Given the description of an element on the screen output the (x, y) to click on. 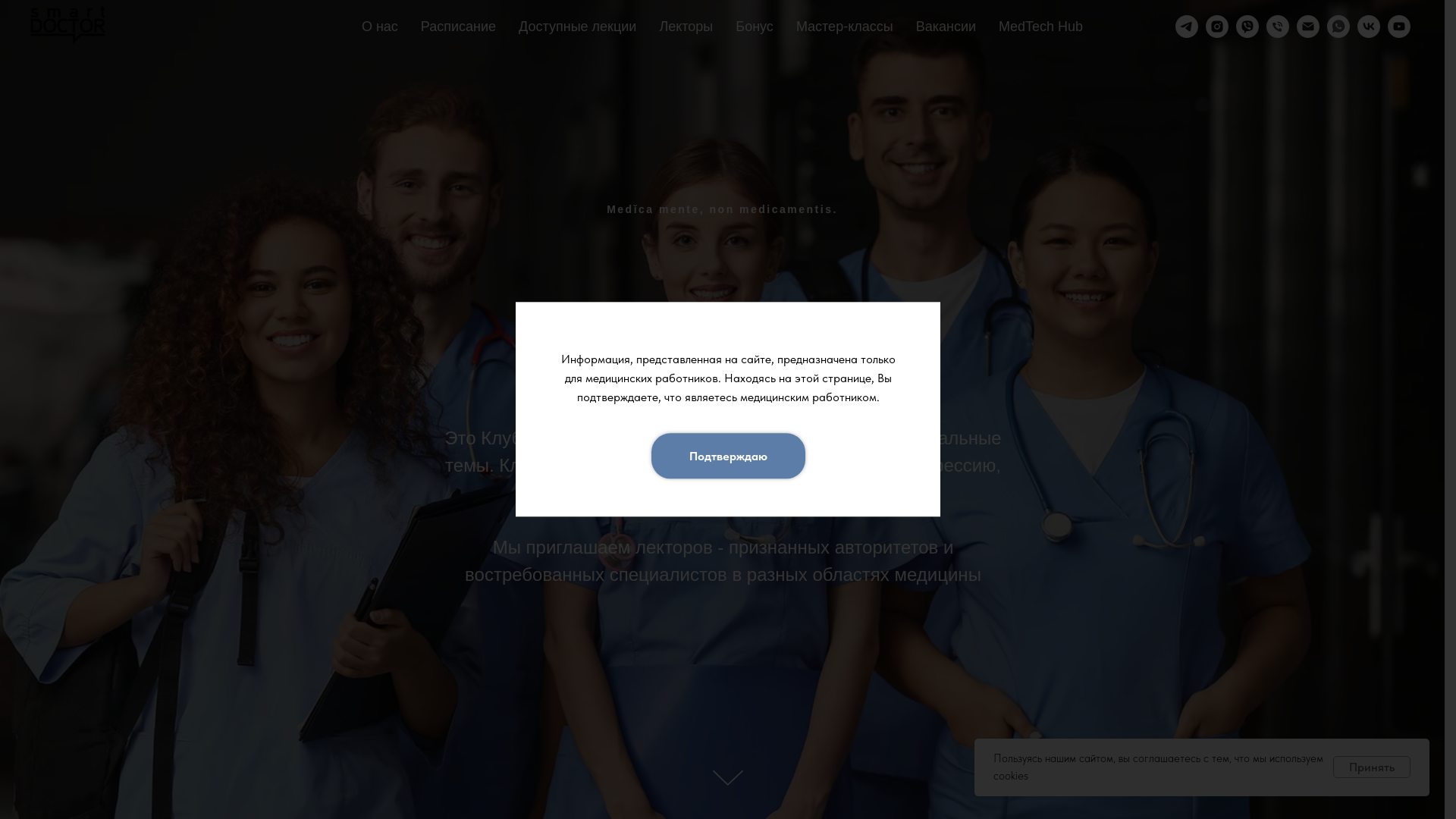
MedTech Hub Element type: text (1040, 25)
